Given the description of an element on the screen output the (x, y) to click on. 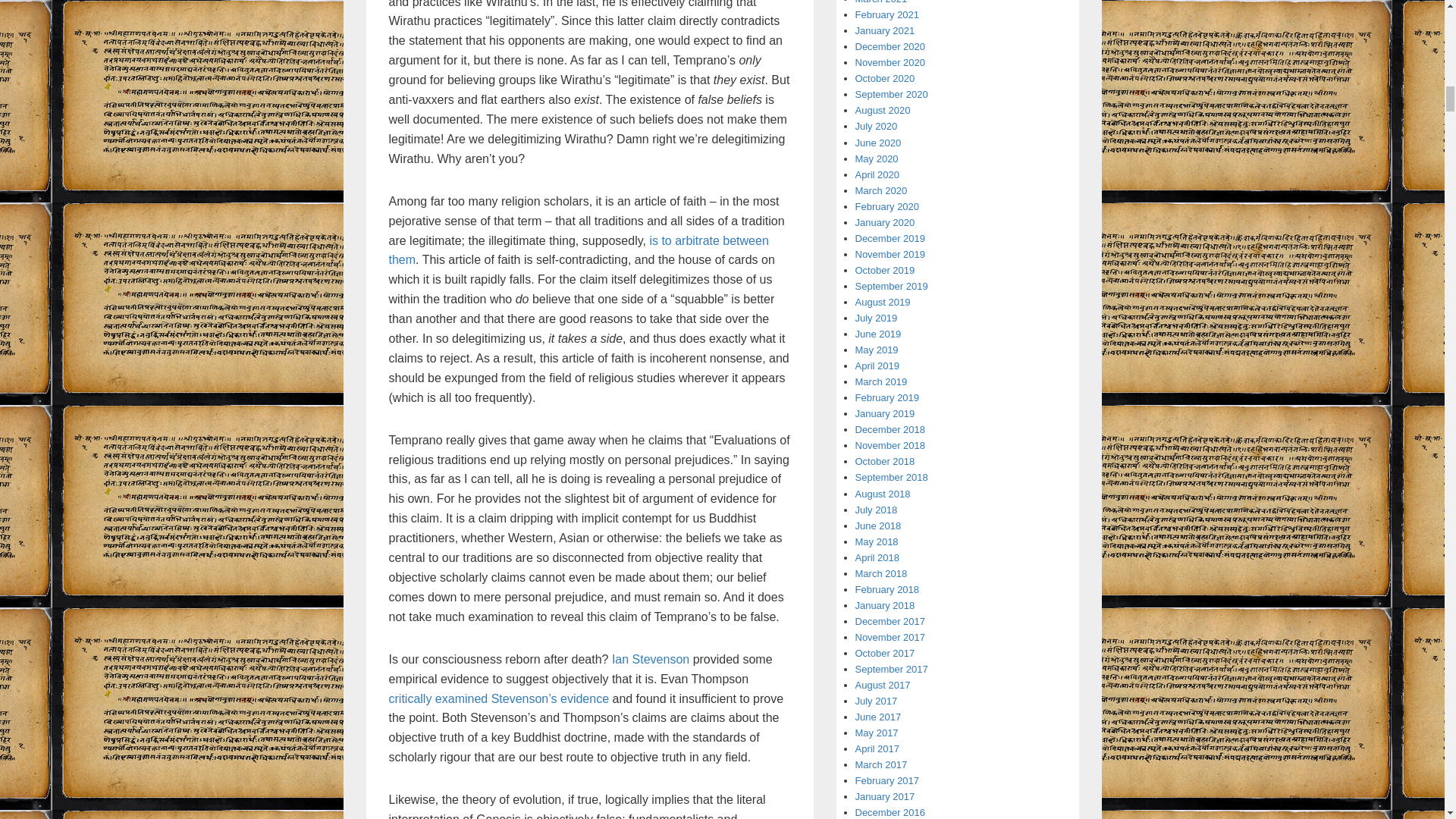
is to arbitrate between them (578, 250)
Ian Stevenson (649, 658)
